Given the description of an element on the screen output the (x, y) to click on. 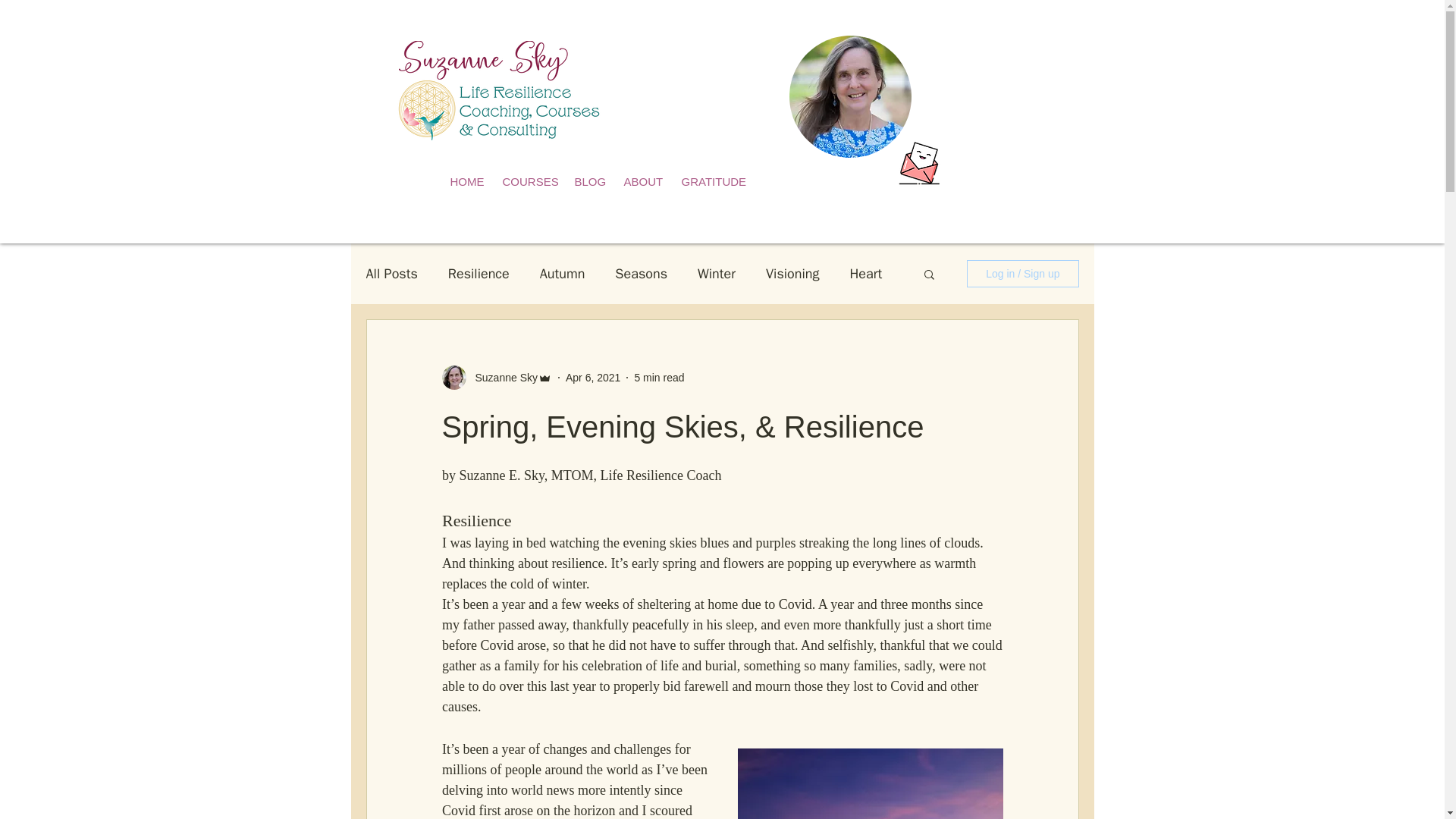
Seasons (640, 273)
5 min read (658, 377)
GRATITUDE (714, 181)
Winter (716, 273)
Suzanne Sky (501, 377)
BLOG (591, 181)
yesSky HeartNectar HeaderLogo-Feb2024.pn (496, 90)
Heart (865, 273)
Resilience (478, 273)
Autumn (562, 273)
Apr 6, 2021 (593, 377)
HOME (468, 181)
COURSES (530, 181)
Visioning (791, 273)
All Posts (390, 273)
